Given the description of an element on the screen output the (x, y) to click on. 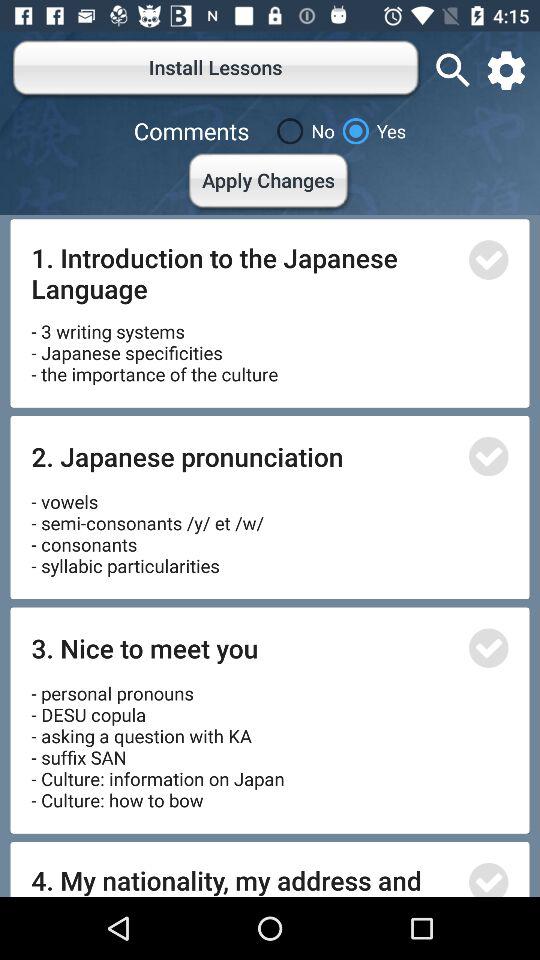
click the item above the 1 introduction to (269, 183)
